Given the description of an element on the screen output the (x, y) to click on. 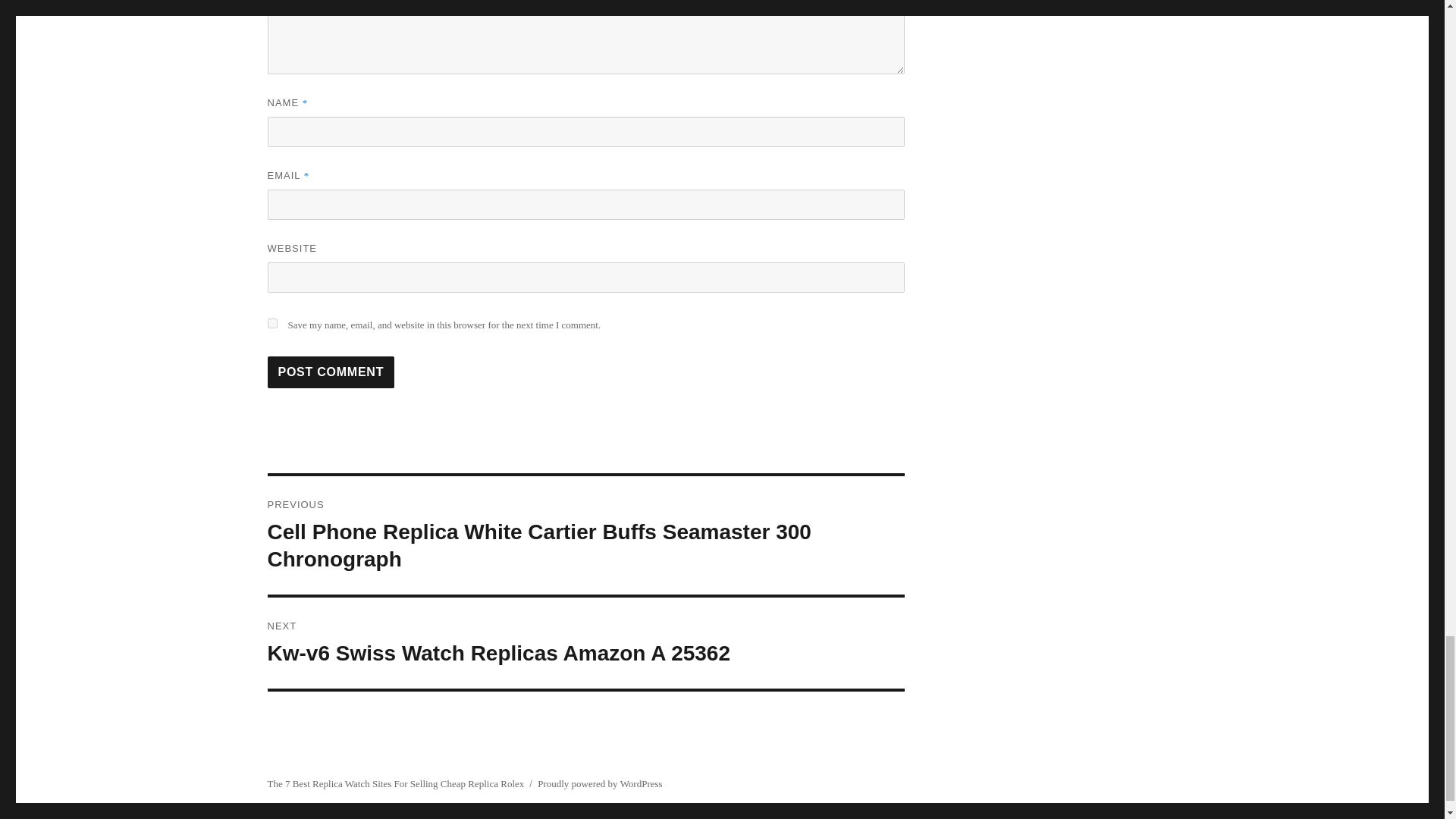
Post Comment (330, 372)
Post Comment (330, 372)
yes (585, 642)
